Given the description of an element on the screen output the (x, y) to click on. 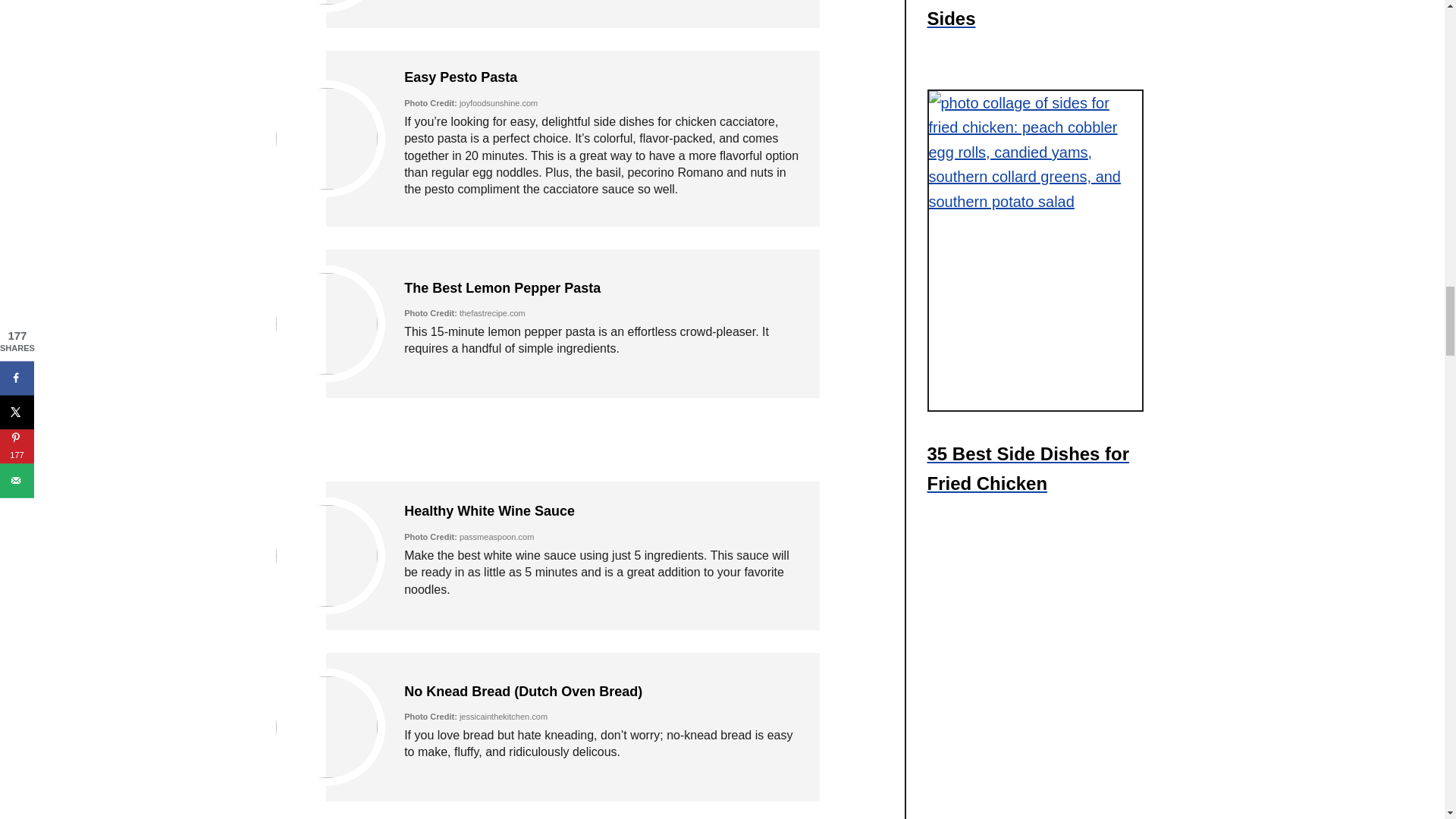
40 Best BBQ Chicken Sides (1040, 21)
